Given the description of an element on the screen output the (x, y) to click on. 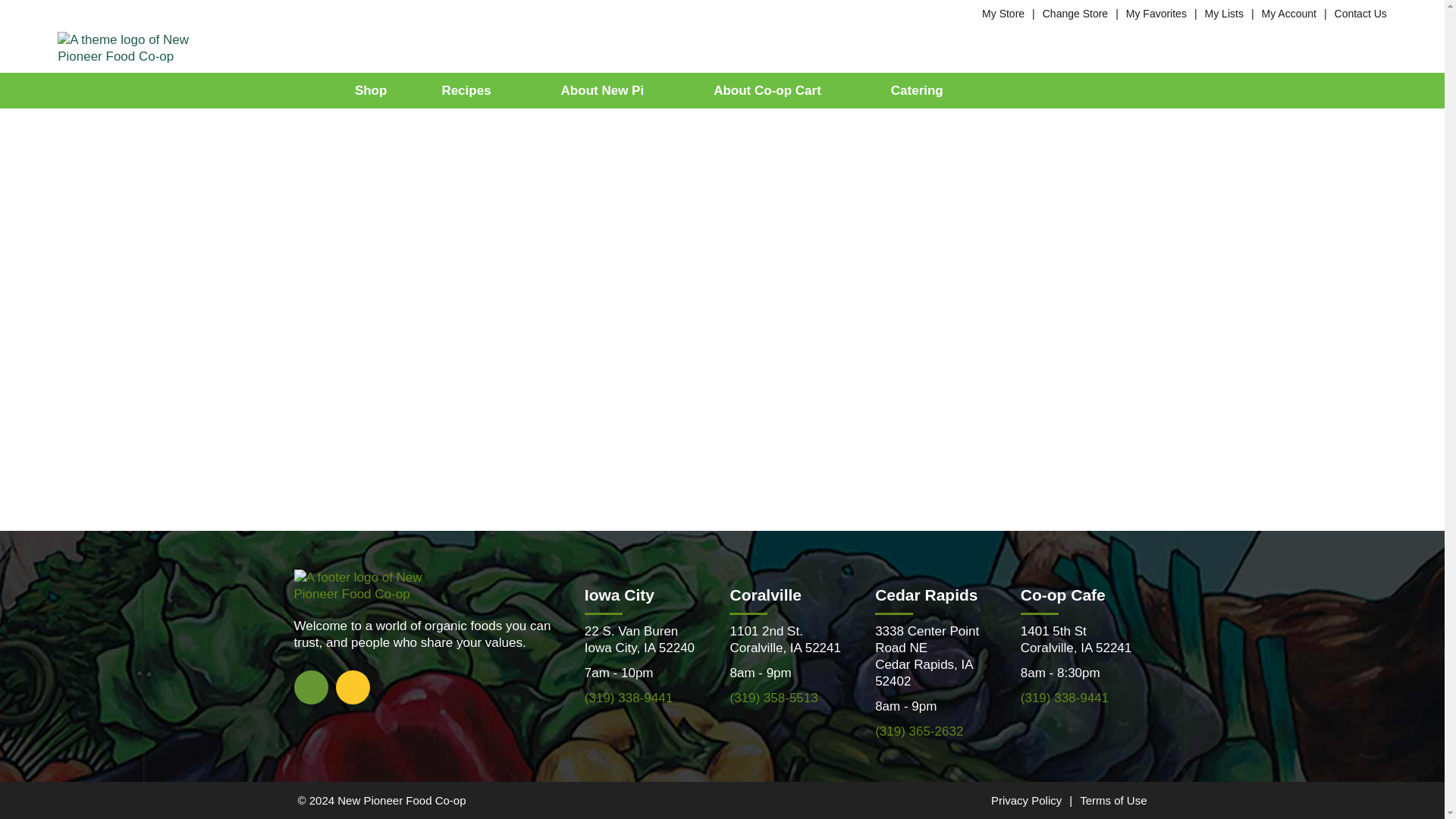
Terms of Use (1113, 799)
About New Pi (610, 90)
Shop (370, 90)
Change Store (1075, 13)
Recipes (472, 90)
Privacy Policy (1026, 799)
My Favorites (1155, 13)
My Account (1289, 13)
About Co-op Cart (774, 90)
facebook (311, 686)
